Given the description of an element on the screen output the (x, y) to click on. 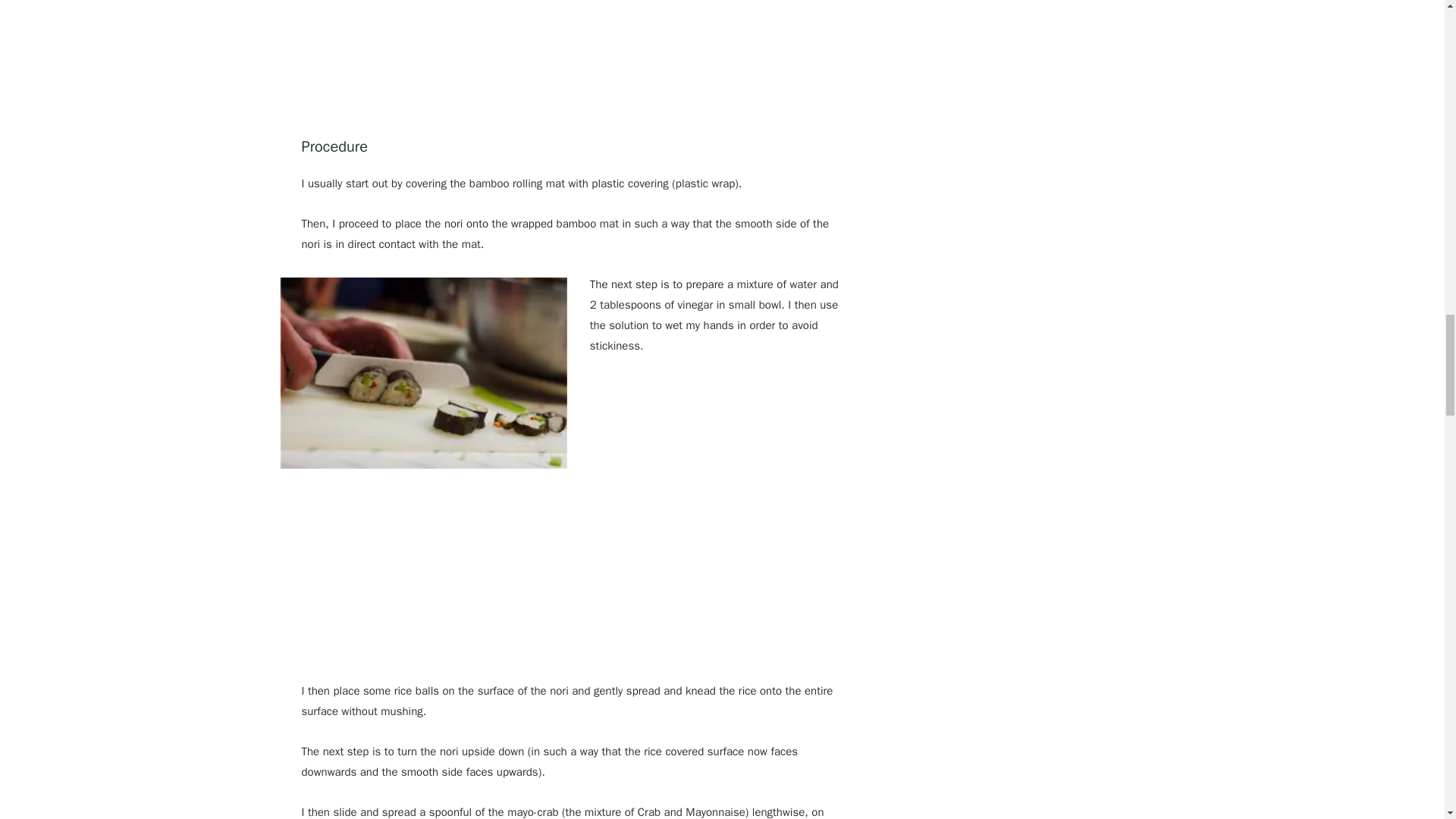
japanese knife cooking, japanese knife cutting board (424, 372)
